Given the description of an element on the screen output the (x, y) to click on. 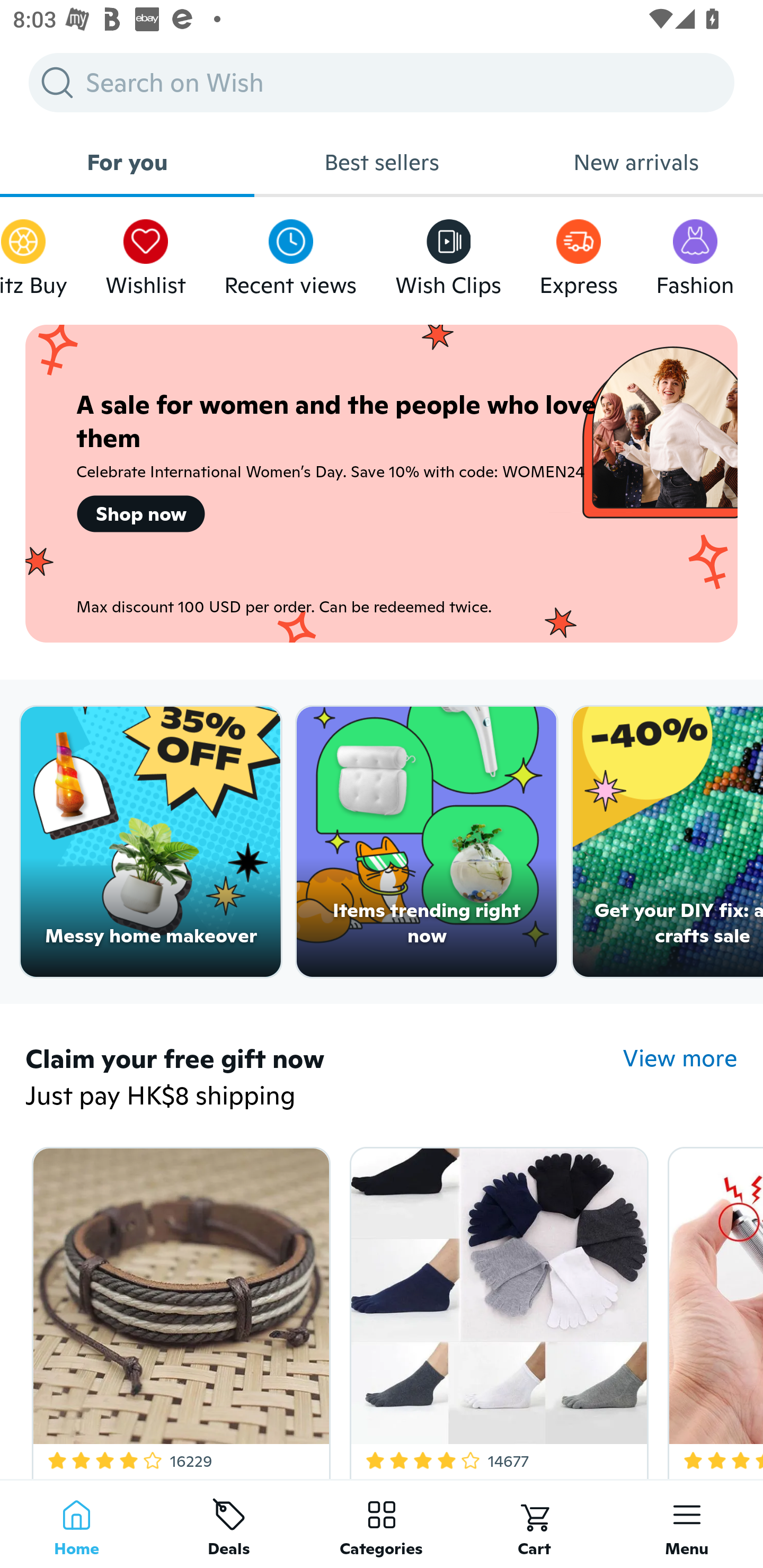
Search on Wish (381, 82)
For you (127, 161)
Best sellers (381, 161)
New arrivals (635, 161)
Blitz Buy (33, 252)
Wishlist (145, 252)
Recent views (290, 252)
Wish Clips (448, 252)
Express (578, 252)
Fashion (695, 252)
Messy home makeover (150, 841)
Items trending right now (426, 841)
Get your DIY fix: arts & crafts sale (668, 841)
Claim your free gift now
Just pay HK$8 shipping (323, 1078)
View more (679, 1058)
3.8 Star Rating 16229 Free (177, 1308)
4.2 Star Rating 14677 Free (495, 1308)
Home (76, 1523)
Deals (228, 1523)
Categories (381, 1523)
Cart (533, 1523)
Menu (686, 1523)
